Given the description of an element on the screen output the (x, y) to click on. 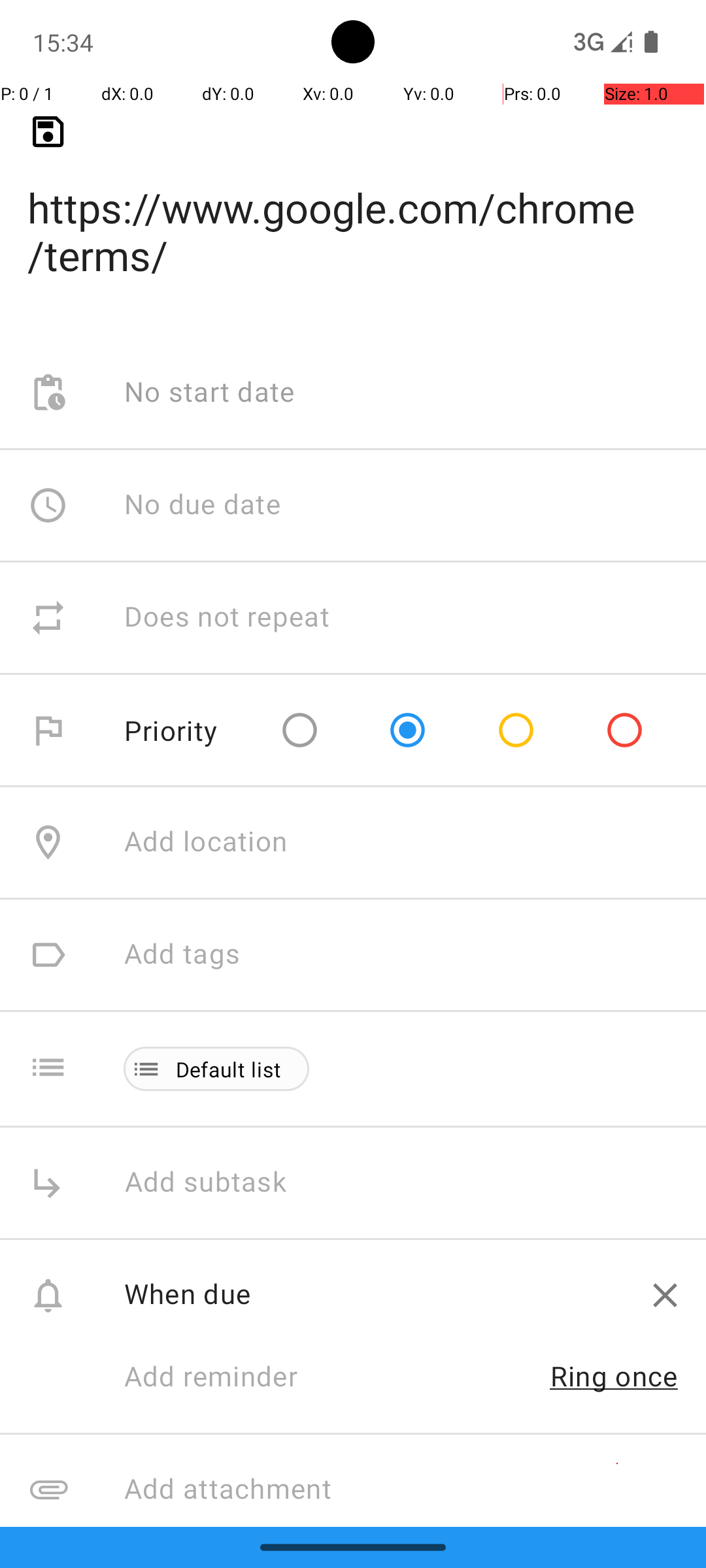
https://www.google.com/chrome/terms/ Element type: android.widget.EditText (353, 210)
Save Element type: android.widget.ImageButton (48, 131)
No due date Element type: android.widget.TextView (202, 504)
Priority Element type: android.widget.TextView (170, 729)
Default list Element type: android.widget.TextView (228, 1069)
No start date Element type: android.widget.TextView (209, 392)
Does not repeat Element type: android.widget.TextView (226, 617)
Add location Element type: android.widget.TextView (205, 842)
Add tags Element type: android.widget.TextView (182, 954)
Add subtask Element type: android.widget.TextView (219, 1182)
Add reminder Element type: android.widget.TextView (224, 1377)
Ring once Element type: android.widget.TextView (613, 1375)
Add attachment Element type: android.widget.TextView (414, 1489)
When due Element type: android.widget.TextView (373, 1292)
Delete Element type: android.view.View (664, 1294)
